Given the description of an element on the screen output the (x, y) to click on. 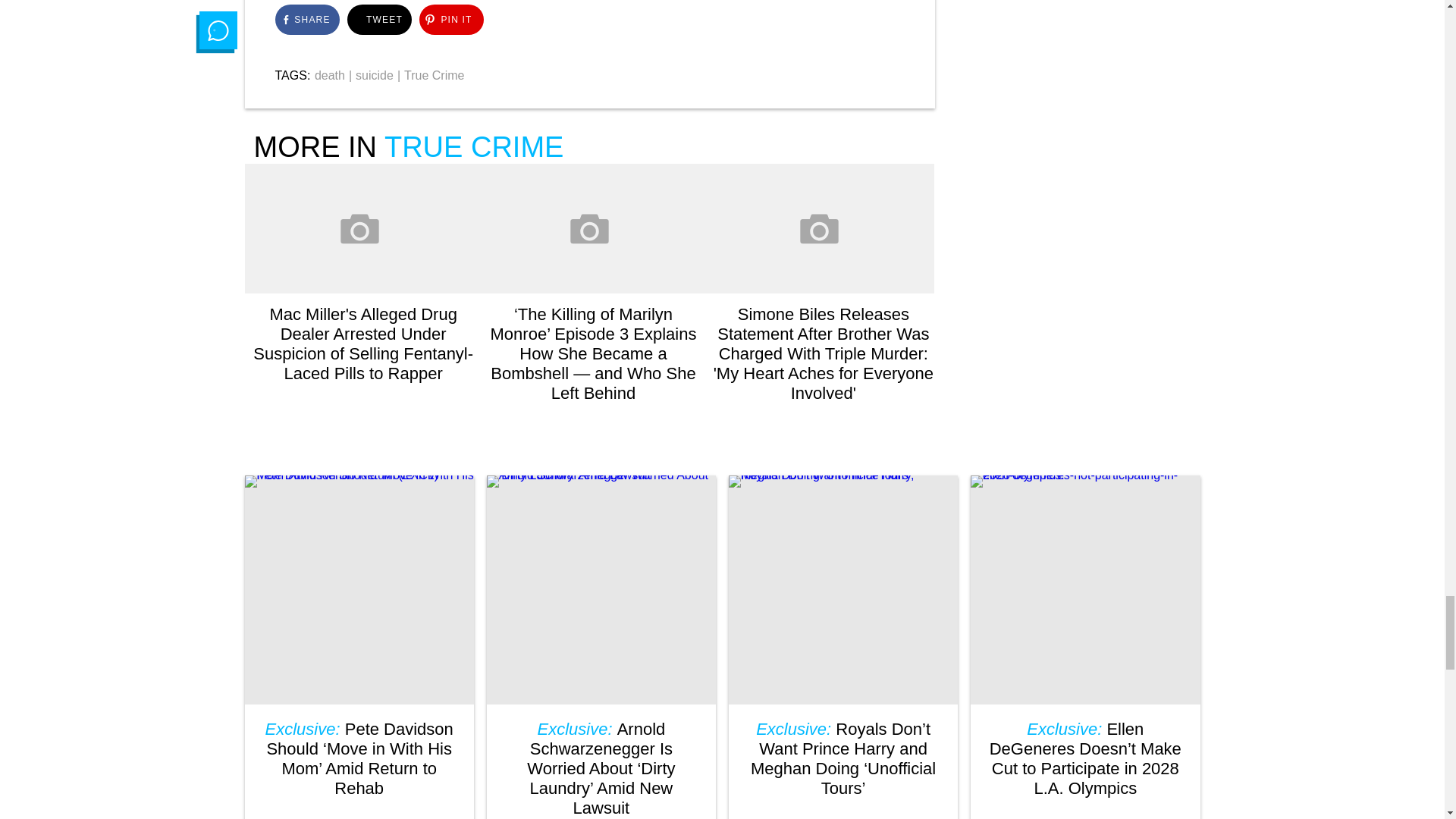
Click to share on Pinterest (451, 19)
Click to share on Facebook (307, 19)
Click to share on Twitter (379, 19)
